Given the description of an element on the screen output the (x, y) to click on. 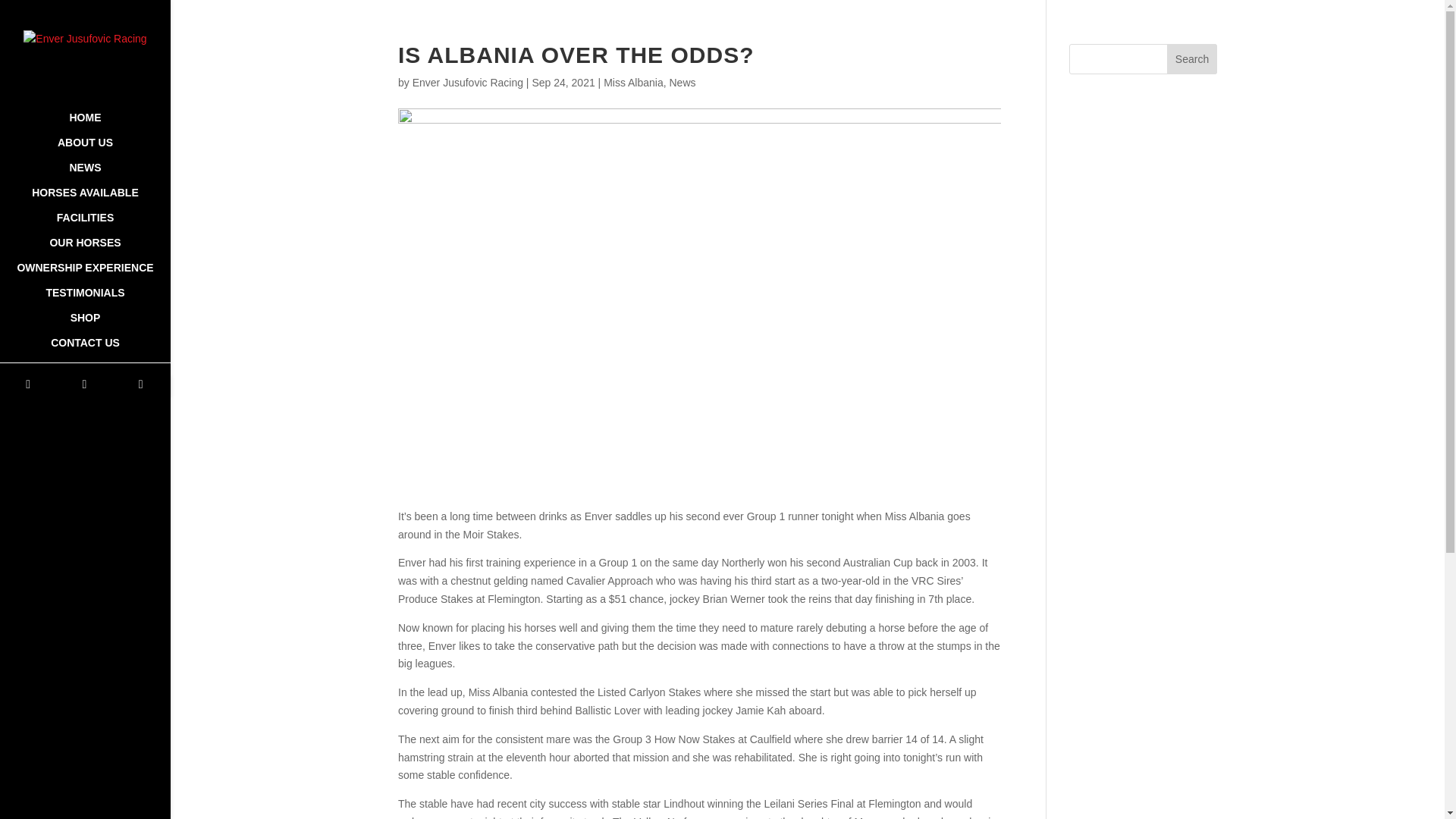
FACEBOOK (27, 384)
OWNERSHIP EXPERIENCE (85, 274)
INSTAGRAM (140, 384)
ABOUT US (85, 149)
Search (1192, 59)
Posts by Enver Jusufovic Racing (467, 82)
TWITTER (84, 384)
Miss Albania (633, 82)
Search (1192, 59)
HOME (85, 124)
